Given the description of an element on the screen output the (x, y) to click on. 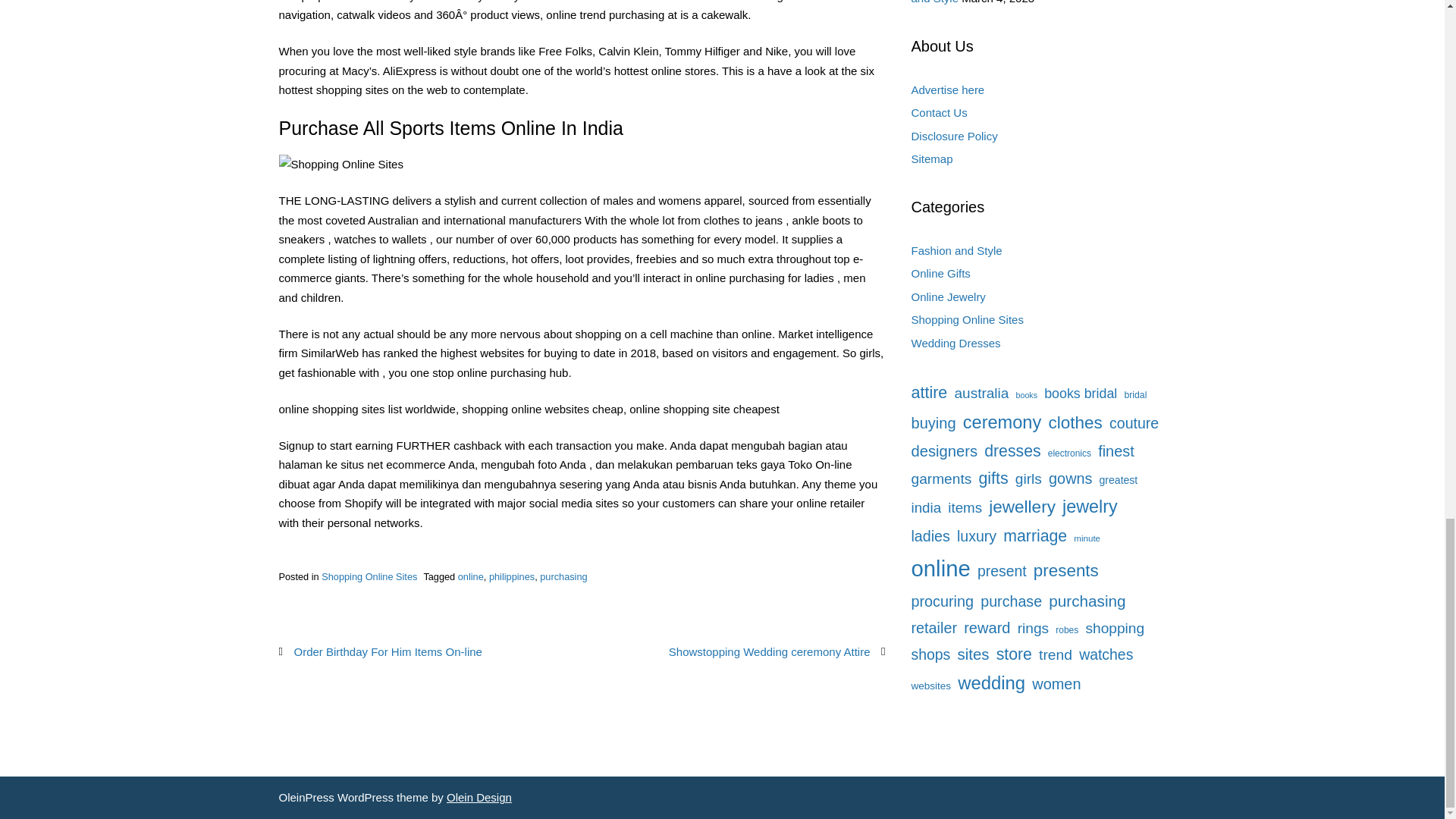
Advertise here (948, 89)
Online Gifts (941, 273)
Order Birthday For Him Items On-line (387, 651)
Contact Us (939, 112)
books bridal (1079, 393)
attire (929, 393)
online (470, 576)
Online Jewelry (948, 296)
bridal (1135, 395)
books (1026, 395)
